Given the description of an element on the screen output the (x, y) to click on. 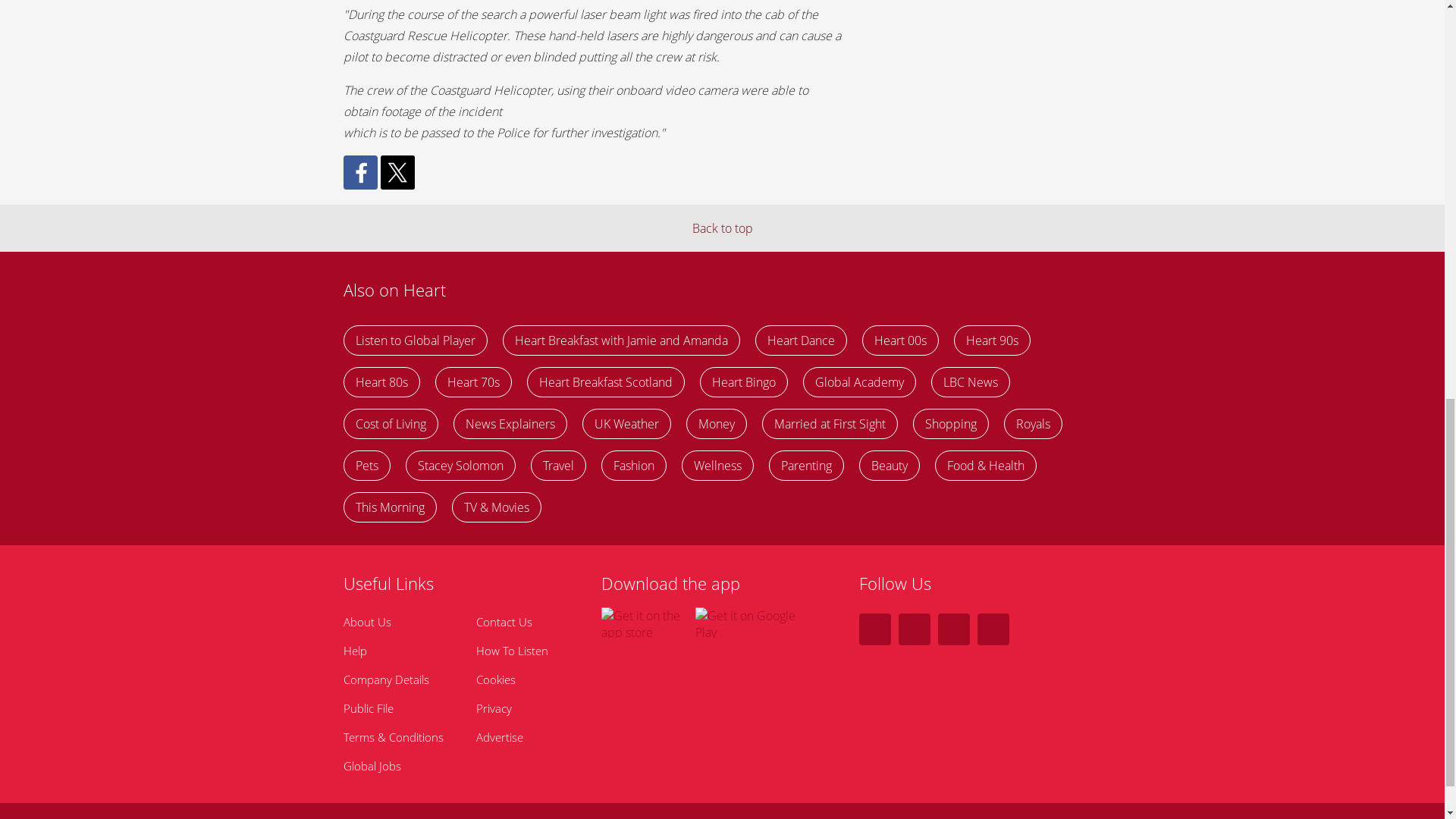
Follow Heart on Instagram (953, 629)
Follow Heart on Facebook (914, 629)
Follow Heart on Youtube (992, 629)
Back to top (721, 228)
Follow Heart on X (874, 629)
